Given the description of an element on the screen output the (x, y) to click on. 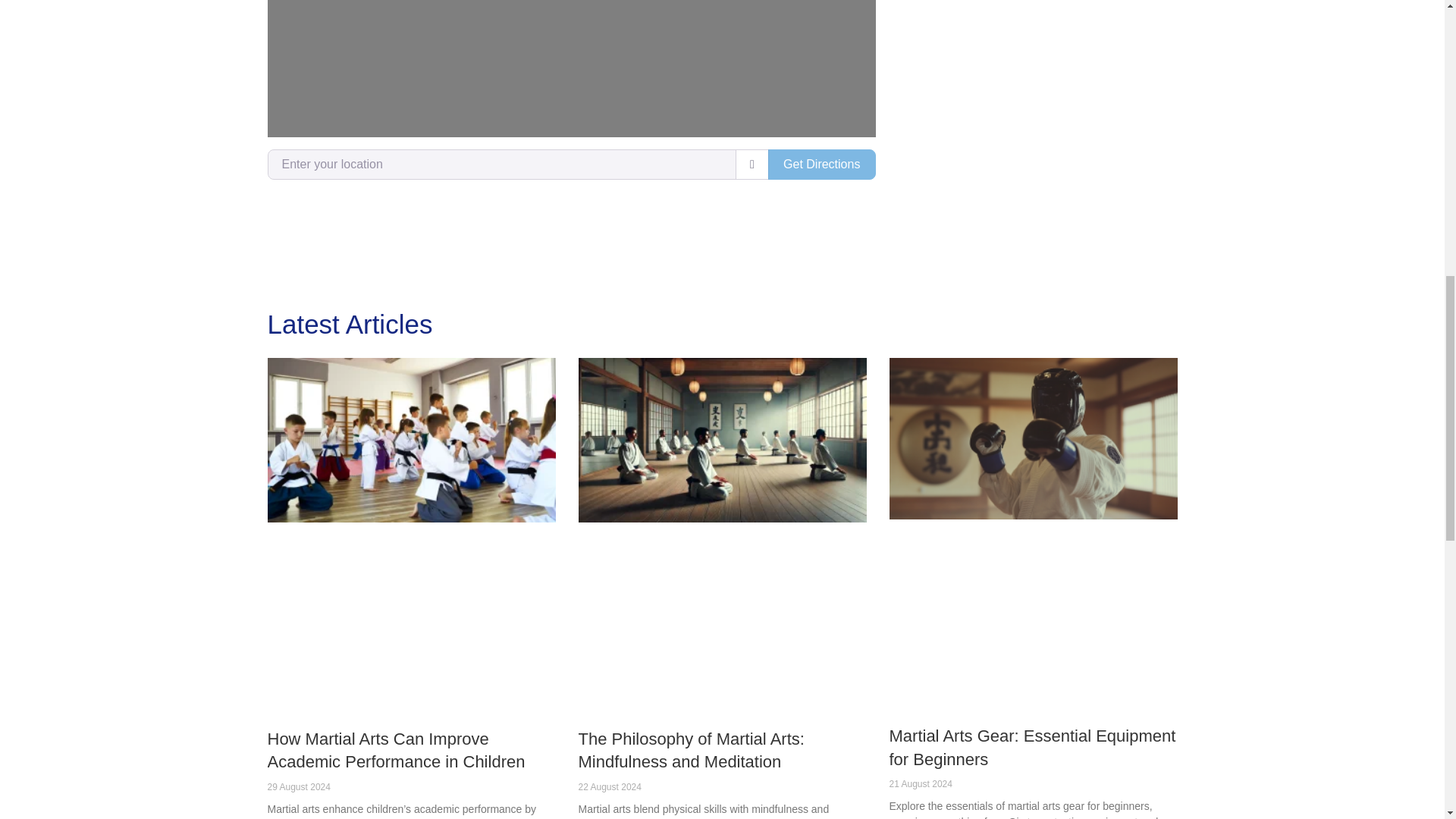
Get Directions (822, 164)
The Philosophy of Martial Arts: Mindfulness and Meditation (690, 750)
use my location (751, 164)
Martial Arts Gear: Essential Equipment for Beginners (1031, 747)
